Given the description of an element on the screen output the (x, y) to click on. 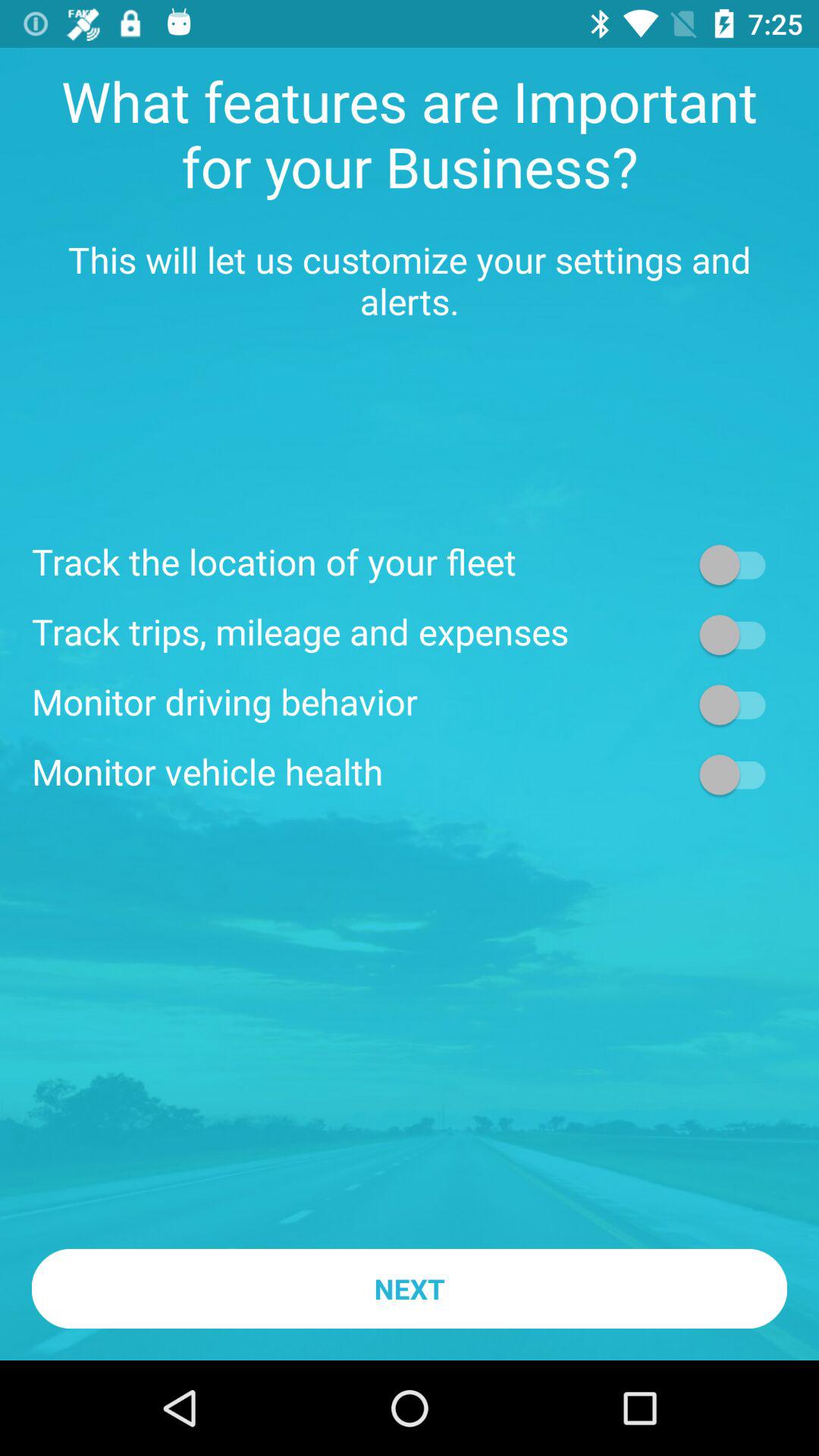
on button (739, 634)
